Given the description of an element on the screen output the (x, y) to click on. 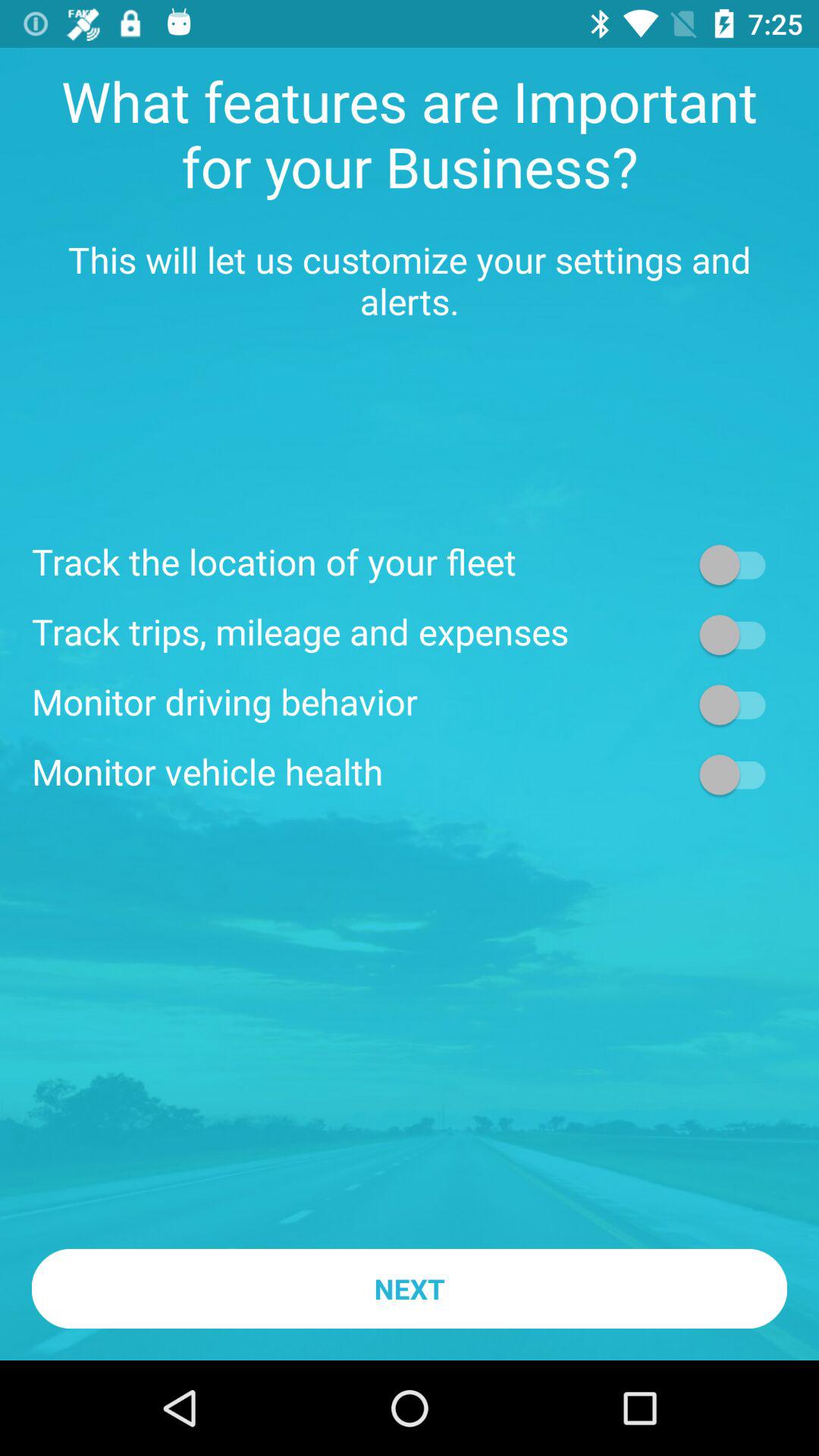
on button (739, 634)
